Given the description of an element on the screen output the (x, y) to click on. 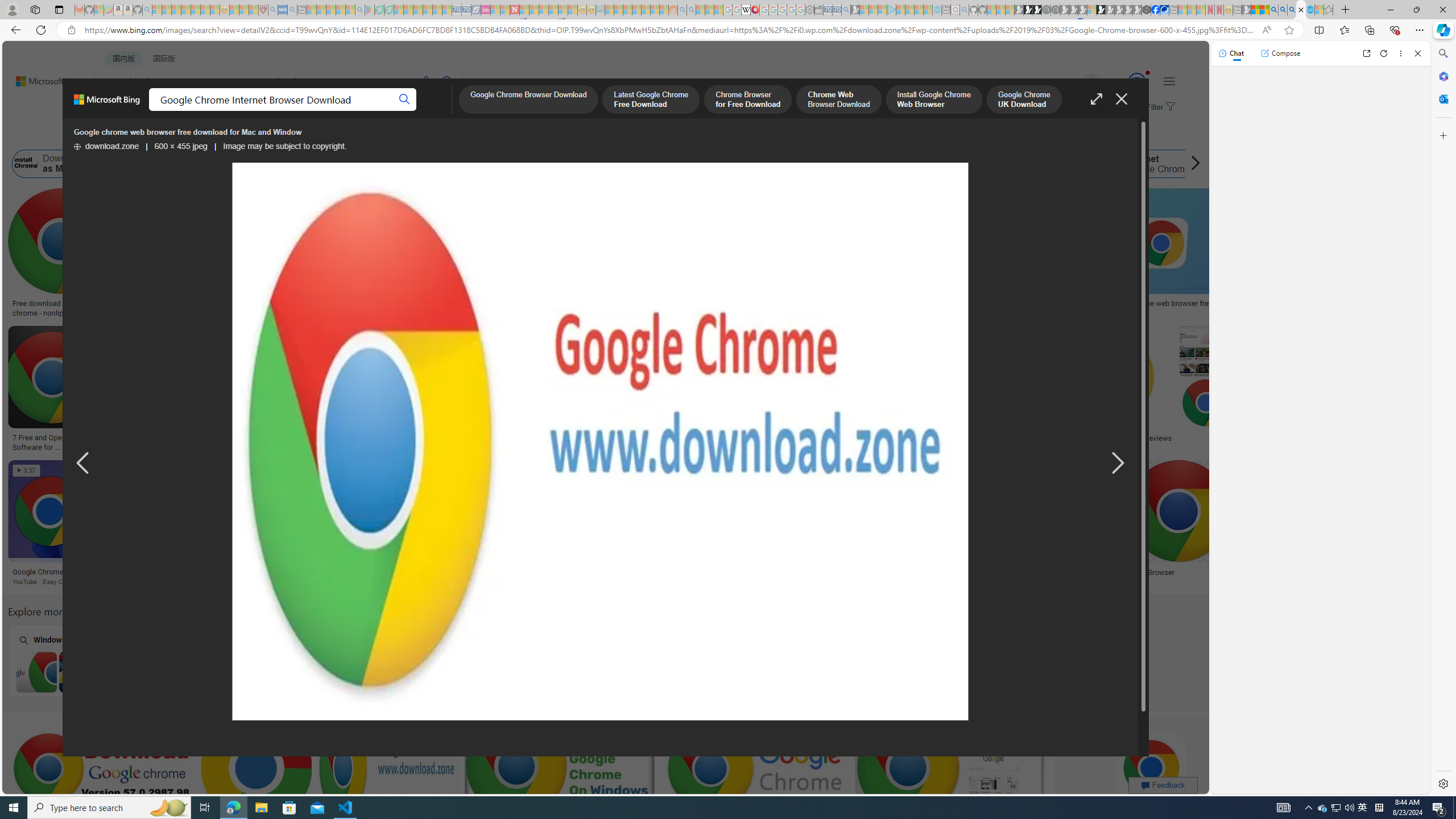
MY BING (156, 111)
Settings and quick links (1168, 80)
Filter (1158, 107)
Descargar Google Chrome Para Pc 2021 Windows 7810Save (209, 390)
Install Google Chrome Web Browser (597, 163)
Internet Google Chrome (1147, 163)
Type (212, 135)
People (295, 135)
AutomationID: rh_meter (1136, 80)
